Given the description of an element on the screen output the (x, y) to click on. 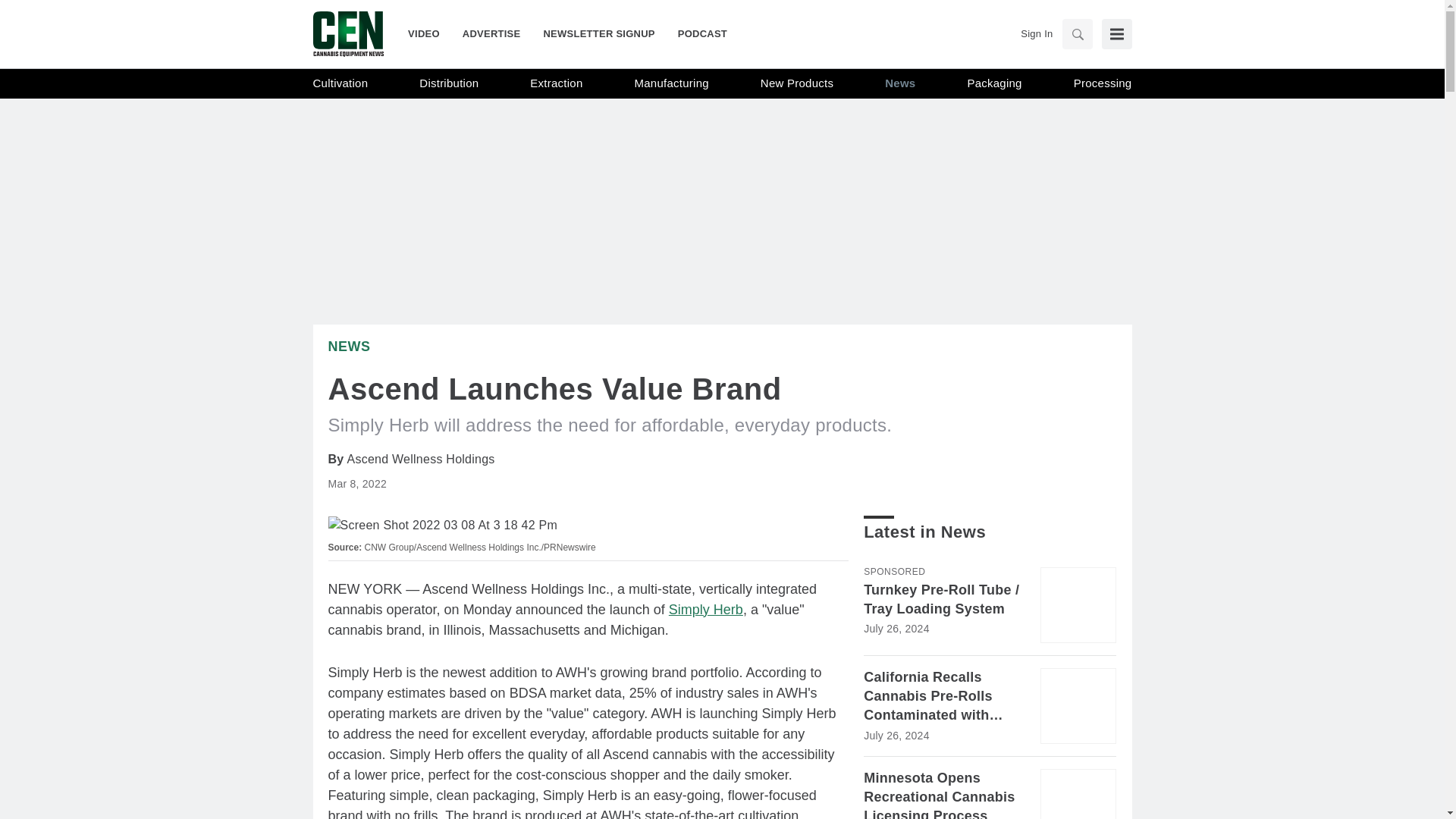
Packaging (994, 83)
PODCAST (696, 33)
ADVERTISE (491, 33)
Cultivation (340, 83)
News (900, 83)
Manufacturing (671, 83)
News (348, 346)
Sponsored (893, 571)
NEWSLETTER SIGNUP (598, 33)
New Products (796, 83)
Sign In (1036, 33)
Extraction (555, 83)
VIDEO (429, 33)
Distribution (449, 83)
Processing (1103, 83)
